Given the description of an element on the screen output the (x, y) to click on. 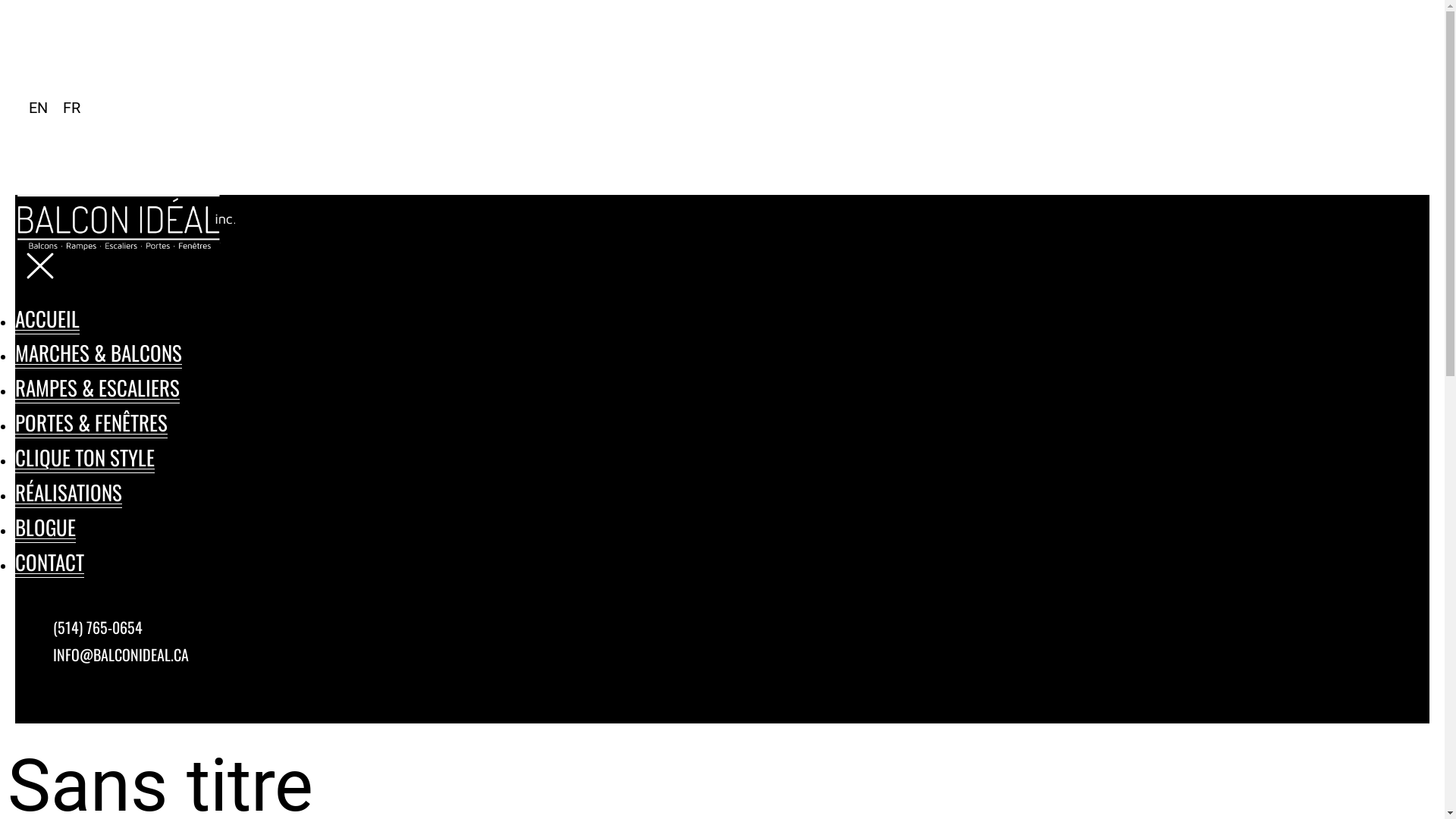
(514) 765-0654 Element type: text (97, 626)
ACCUEIL Element type: text (47, 318)
EN Element type: text (38, 106)
MARCHES & BALCONS Element type: text (98, 352)
CONTACT Element type: text (49, 561)
RAMPES & ESCALIERS Element type: text (97, 387)
FR Element type: text (71, 106)
BLOGUE Element type: text (45, 526)
INFO@BALCONIDEAL.CA Element type: text (120, 654)
CLIQUE TON STYLE Element type: text (84, 457)
